Given the description of an element on the screen output the (x, y) to click on. 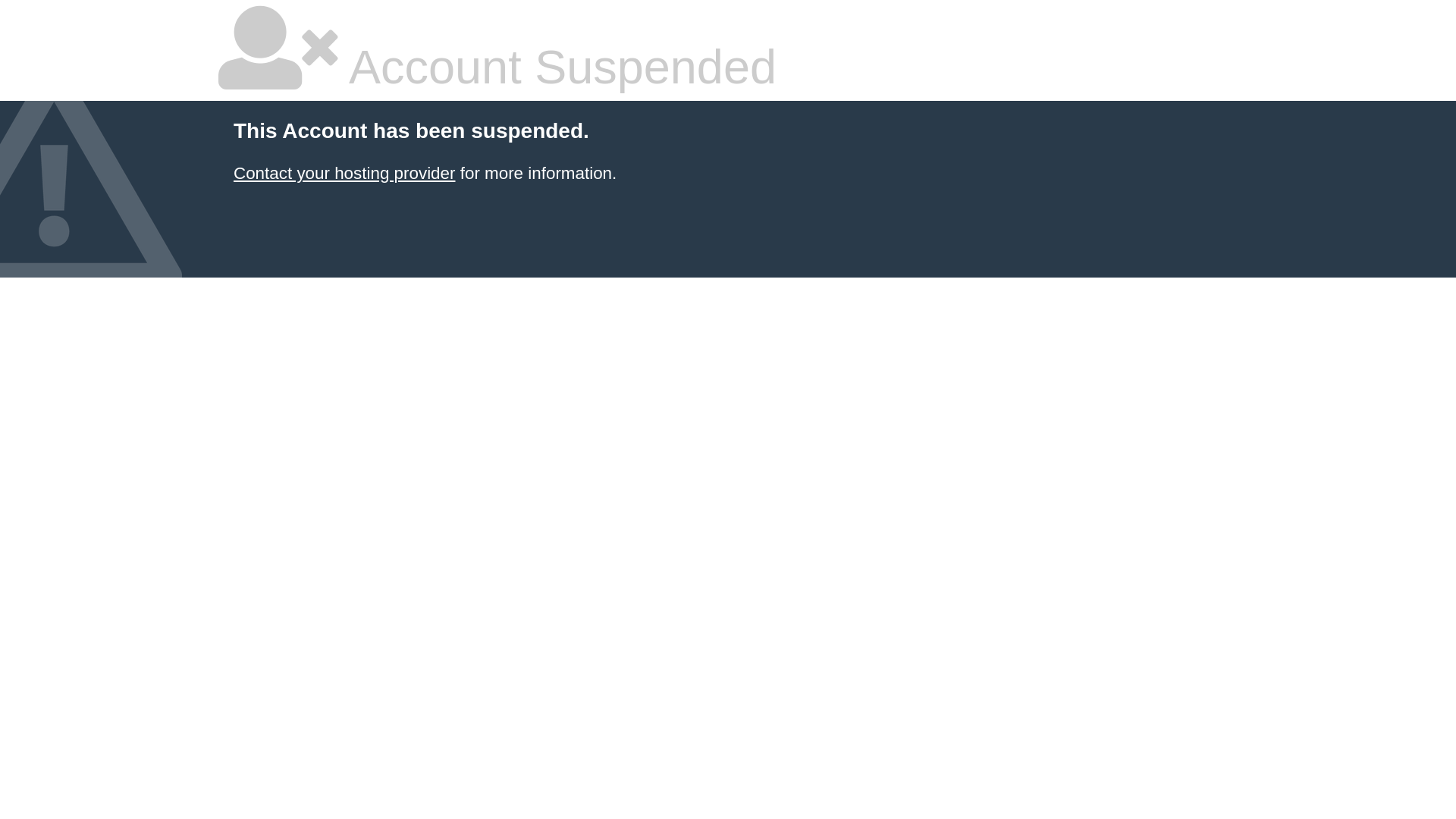
Contact your hosting provider Element type: text (344, 172)
